Given the description of an element on the screen output the (x, y) to click on. 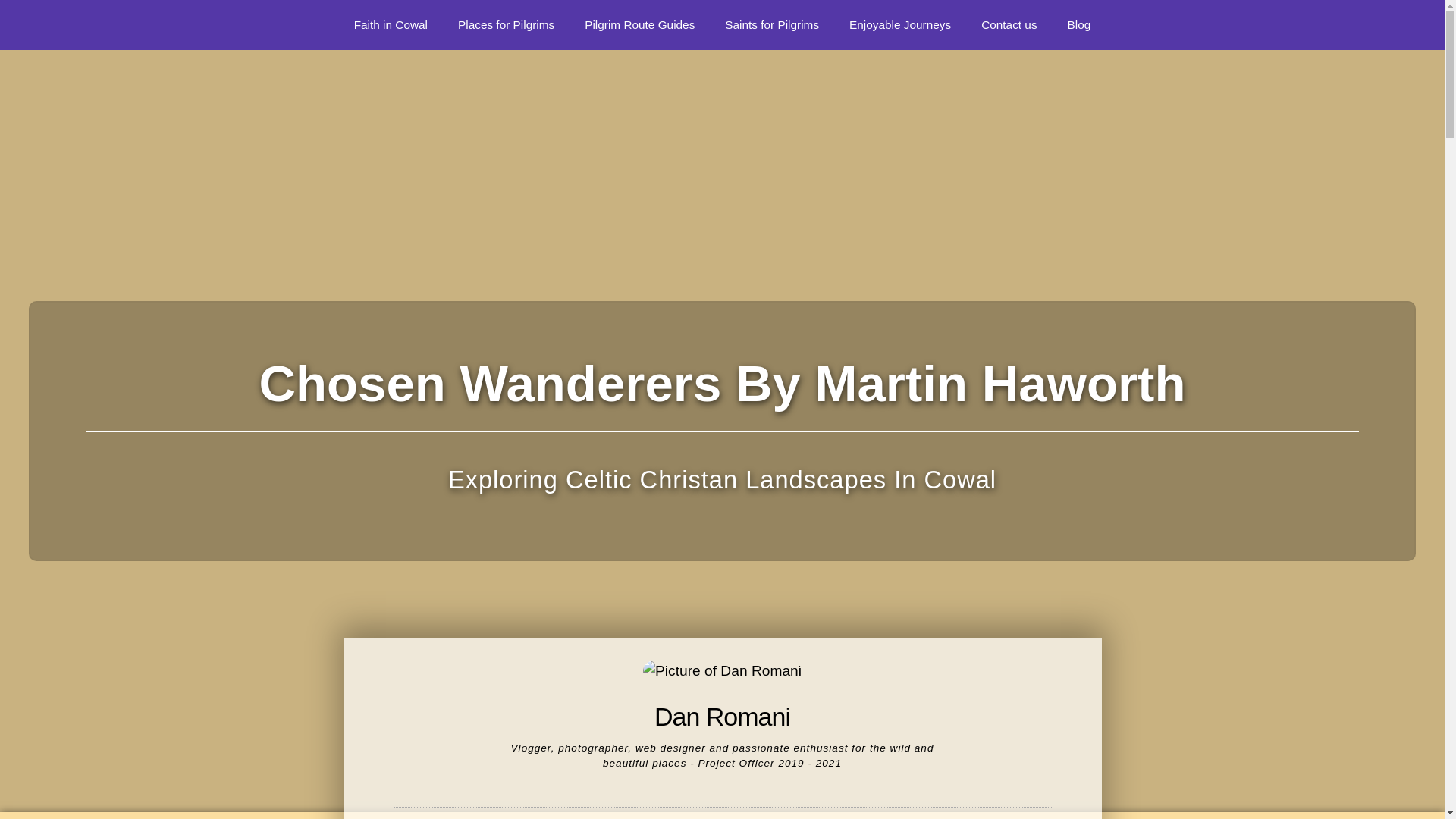
Pilgrim Route Guides (639, 24)
Faith in Cowal (390, 24)
Places for Pilgrims (505, 24)
